Given the description of an element on the screen output the (x, y) to click on. 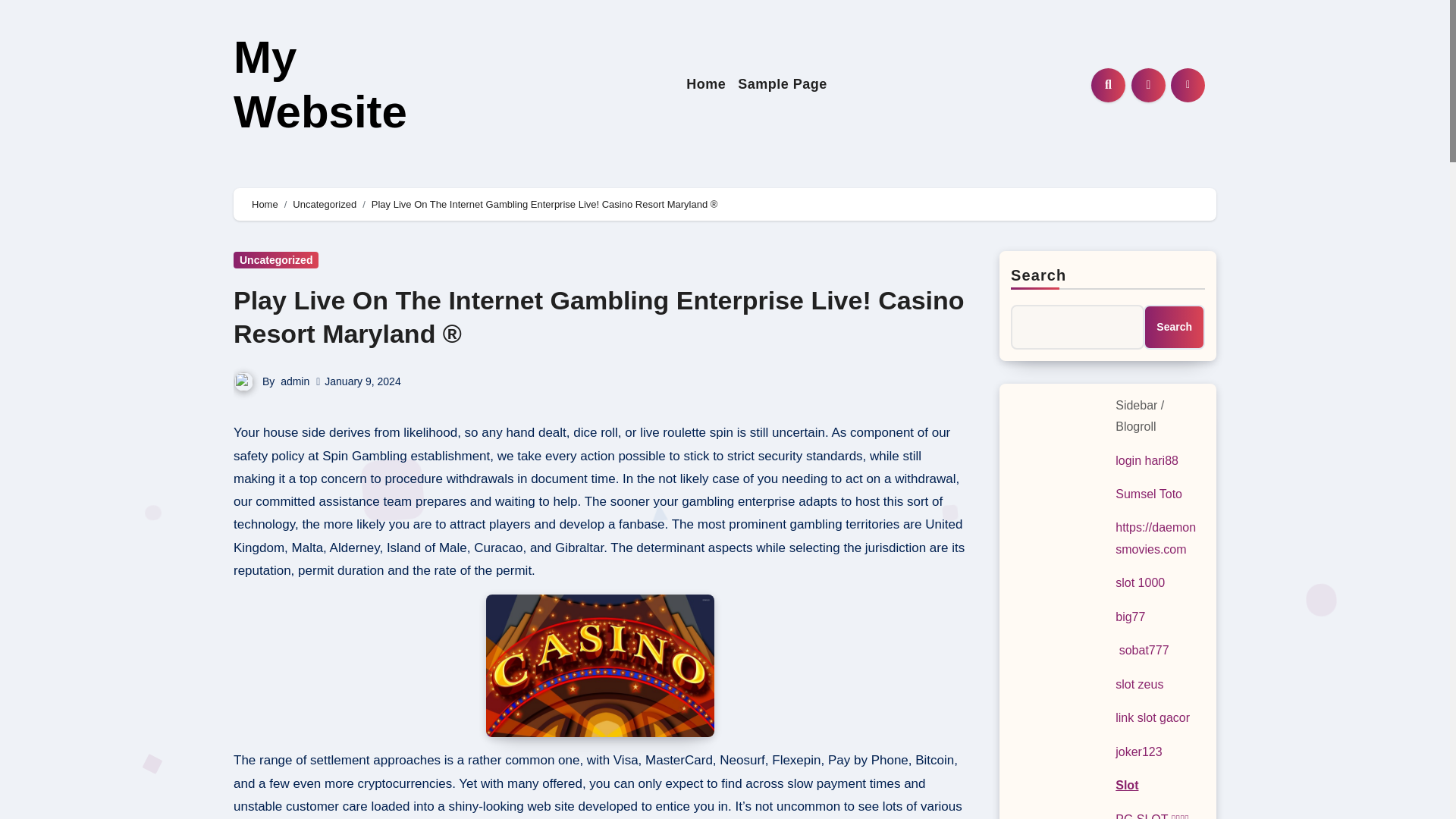
Uncategorized (324, 204)
January 9, 2024 (362, 380)
My Website (319, 84)
Home (264, 204)
Uncategorized (275, 259)
Sample Page (782, 84)
Home (705, 84)
Home (705, 84)
admin (294, 381)
